Given the description of an element on the screen output the (x, y) to click on. 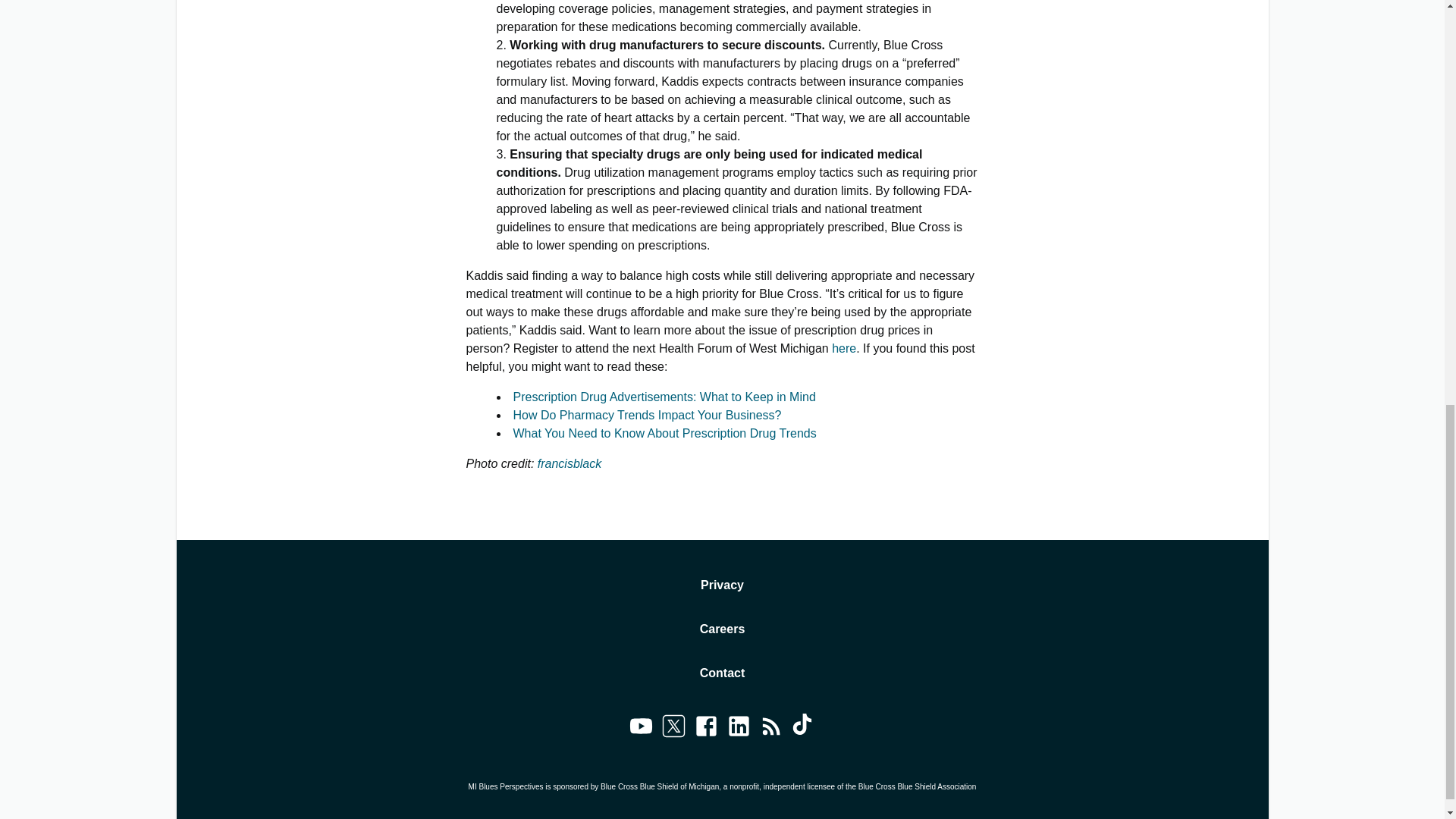
here (843, 348)
Contact (722, 673)
Privacy (722, 585)
francisblack (569, 463)
Careers (722, 628)
What You Need to Know About Prescription Drug Trends (663, 432)
How Do Pharmacy Trends Impact Your Business? (646, 414)
Prescription Drug Advertisements: What to Keep in Mind (663, 396)
